Given the description of an element on the screen output the (x, y) to click on. 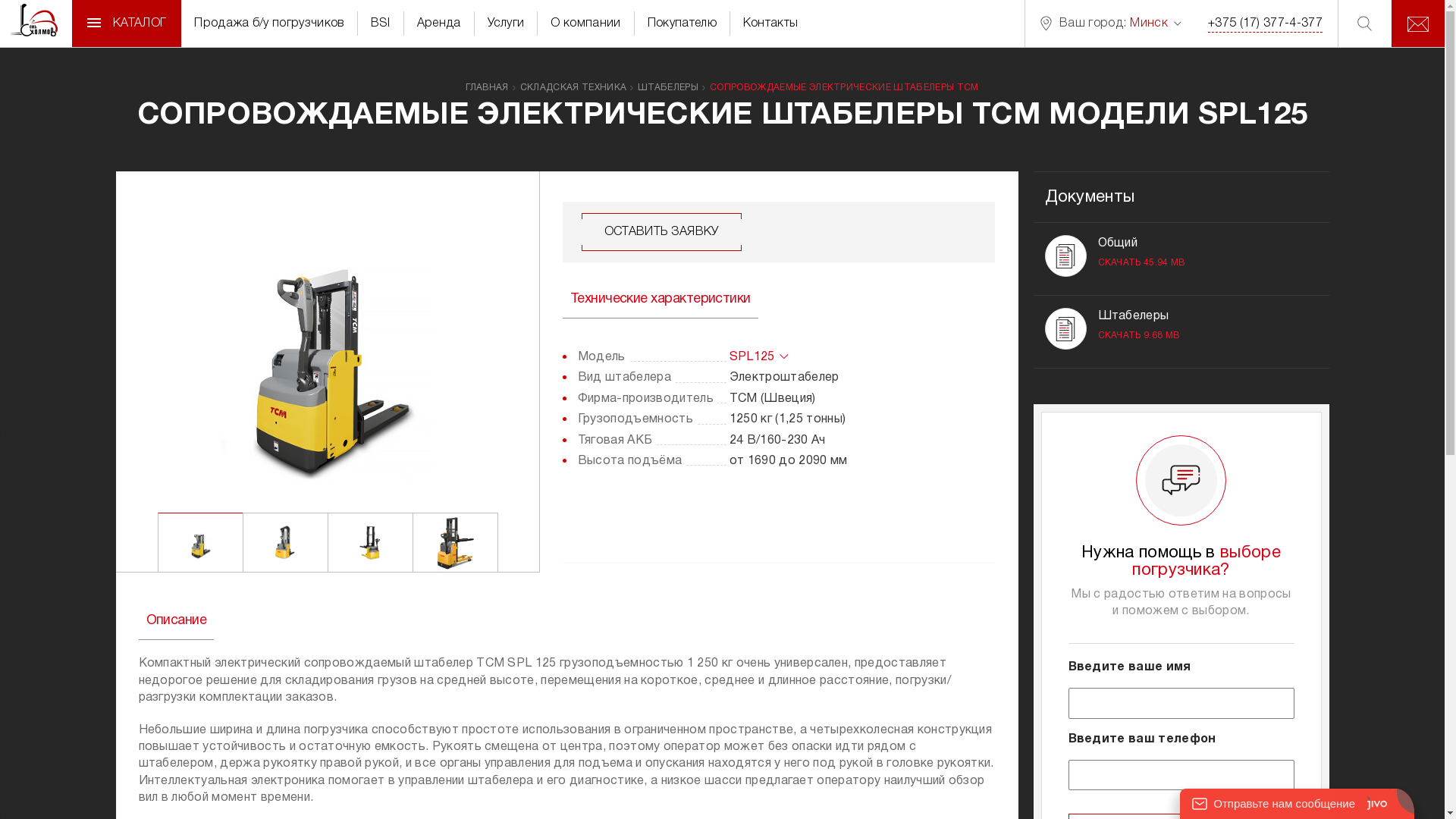
BSI Element type: text (380, 23)
+375 (17) 377-4-377 Element type: text (1265, 23)
